Given the description of an element on the screen output the (x, y) to click on. 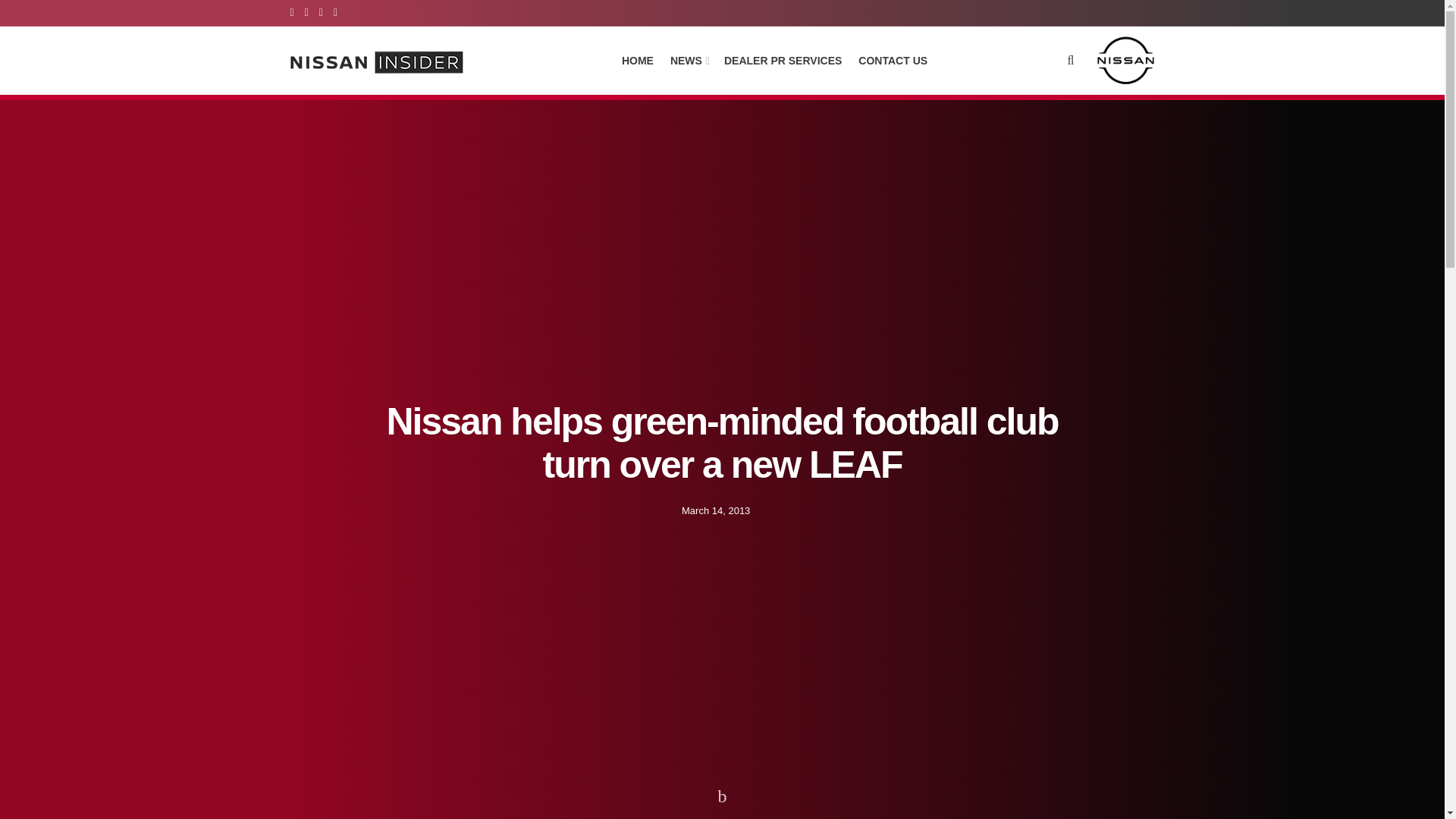
HOME (637, 60)
March 14, 2013 (715, 509)
DEALER PR SERVICES (782, 60)
NEWS (688, 60)
CONTACT US (893, 60)
